Given the description of an element on the screen output the (x, y) to click on. 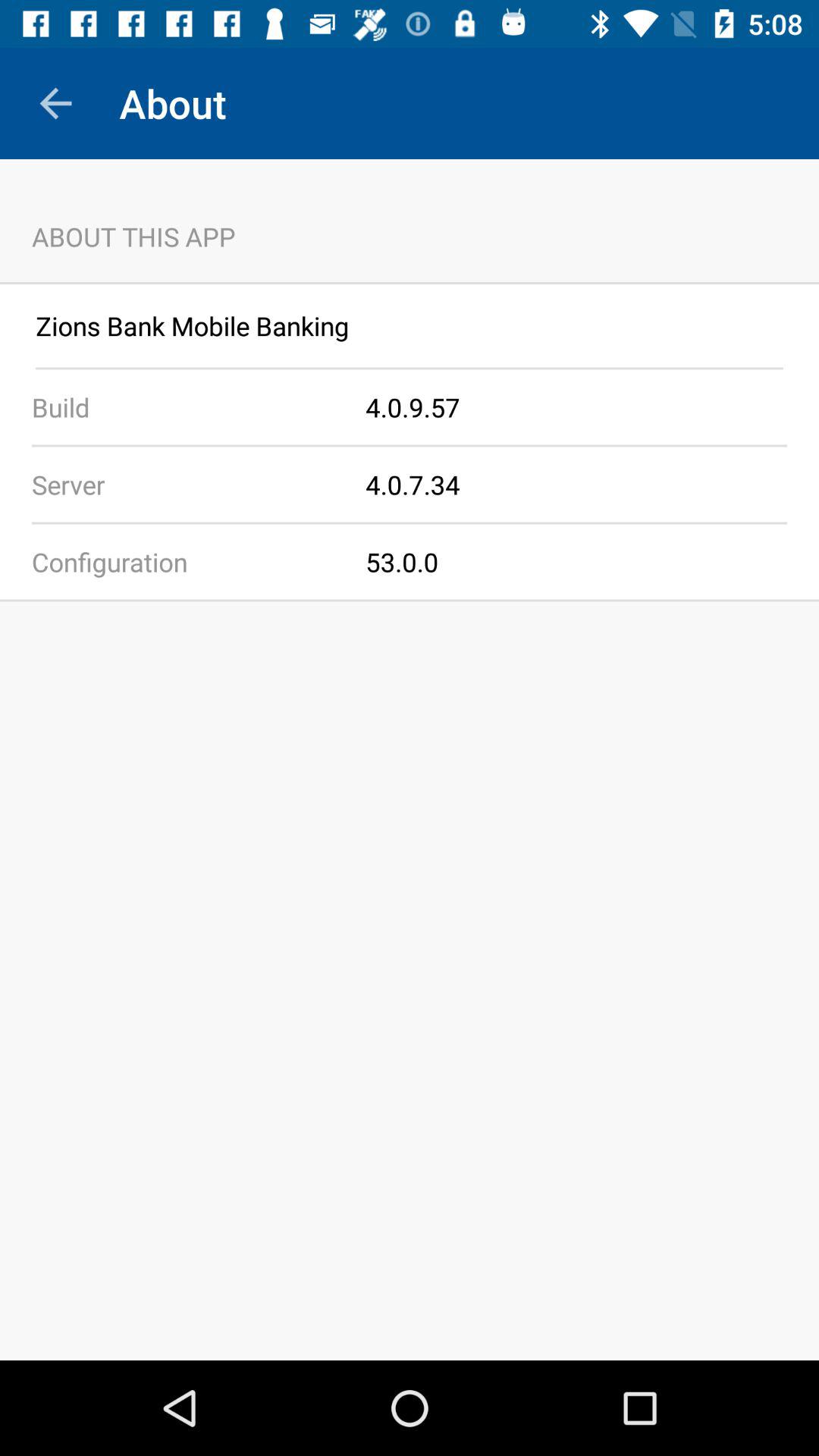
swipe to server (182, 484)
